Given the description of an element on the screen output the (x, y) to click on. 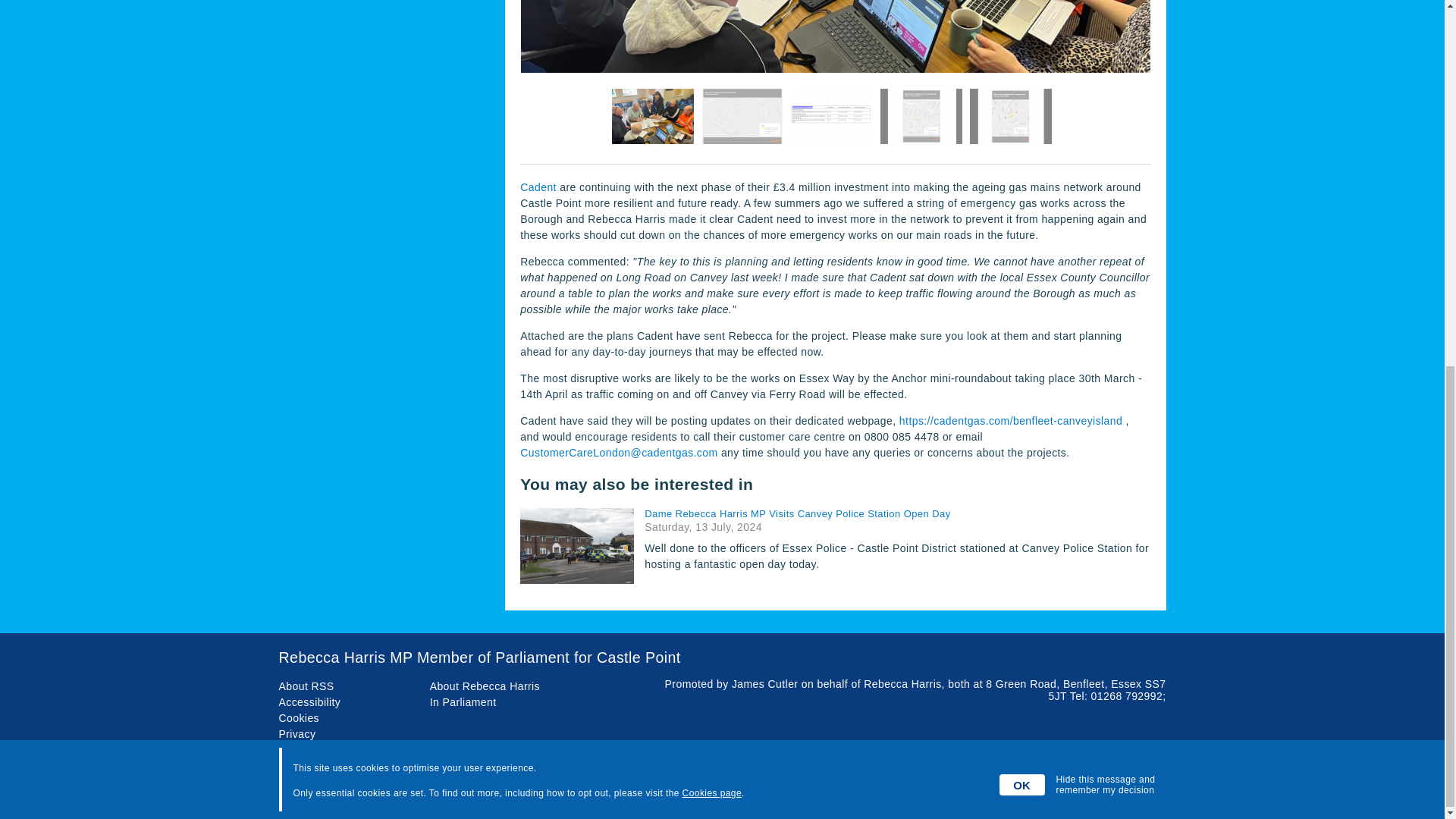
Dame Rebecca Harris MP Visits Canvey Police Station Open Day (897, 513)
In Parliament (462, 702)
Accessibility (309, 702)
Rebecca Harris MP Member of Parliament for Castle Point (722, 657)
Cookies page (711, 131)
About RSS (306, 686)
OK (1021, 123)
Privacy (297, 734)
Bluetree (1145, 793)
Cadent (537, 186)
Cookies (299, 717)
About Rebecca Harris (484, 686)
